Given the description of an element on the screen output the (x, y) to click on. 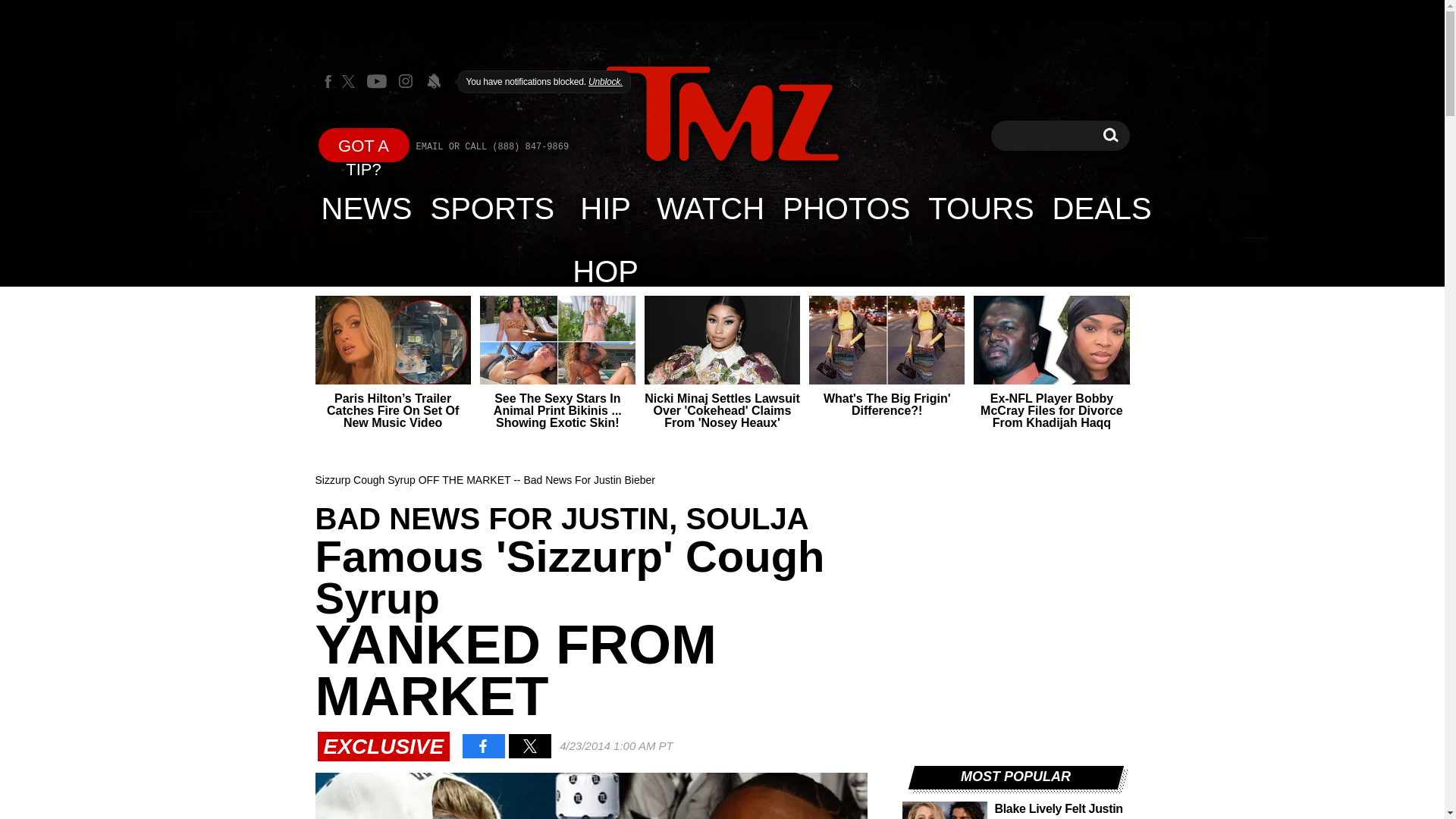
SPORTS (493, 207)
NEWS (367, 207)
TOURS (980, 207)
DEALS (1101, 207)
WATCH (710, 207)
TMZ (722, 115)
Search (1110, 134)
PHOTOS (845, 207)
TMZ (722, 113)
